Given the description of an element on the screen output the (x, y) to click on. 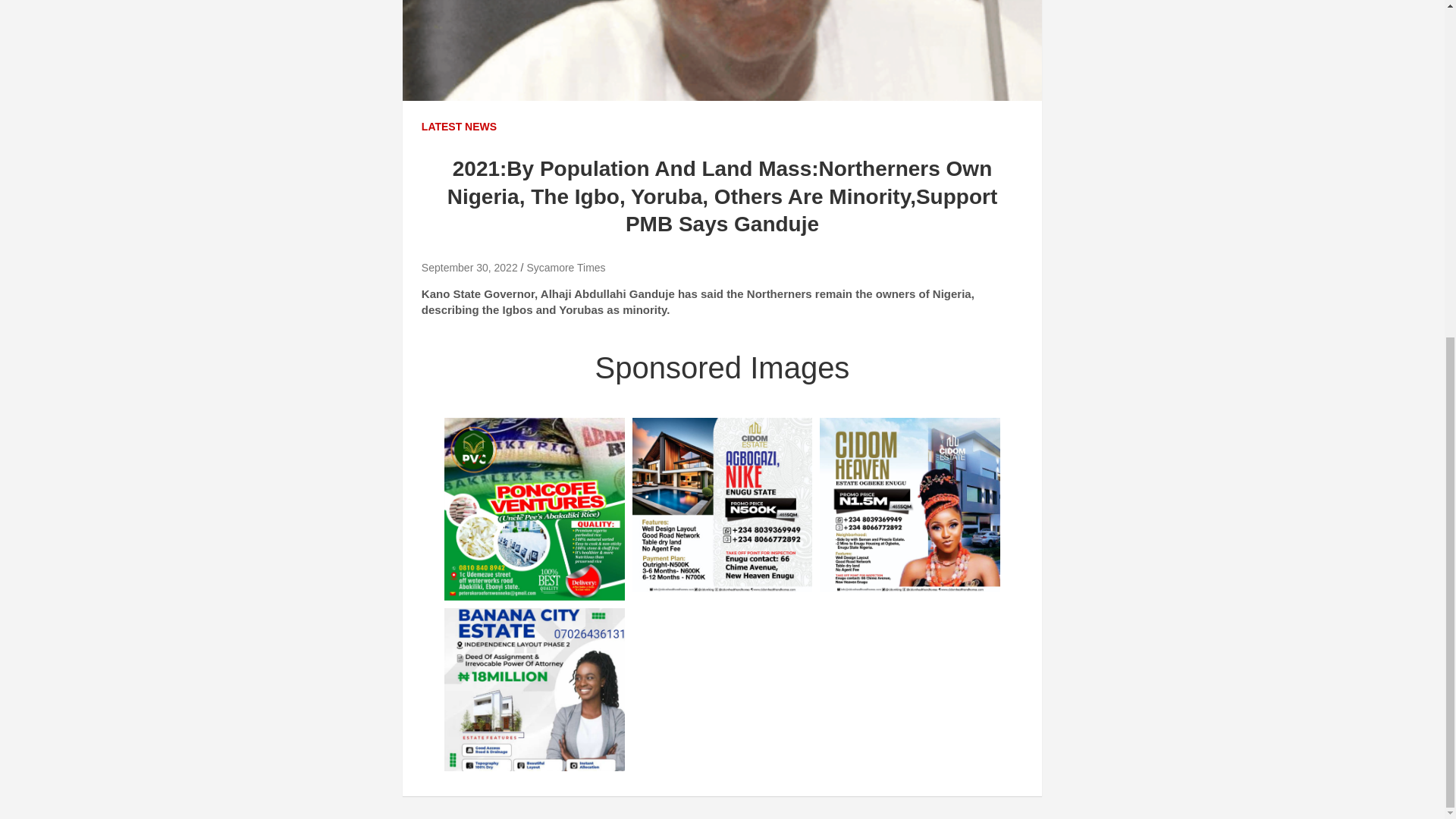
September 30, 2022 (470, 267)
LATEST NEWS (459, 127)
Sycamore Times (565, 267)
